Given the description of an element on the screen output the (x, y) to click on. 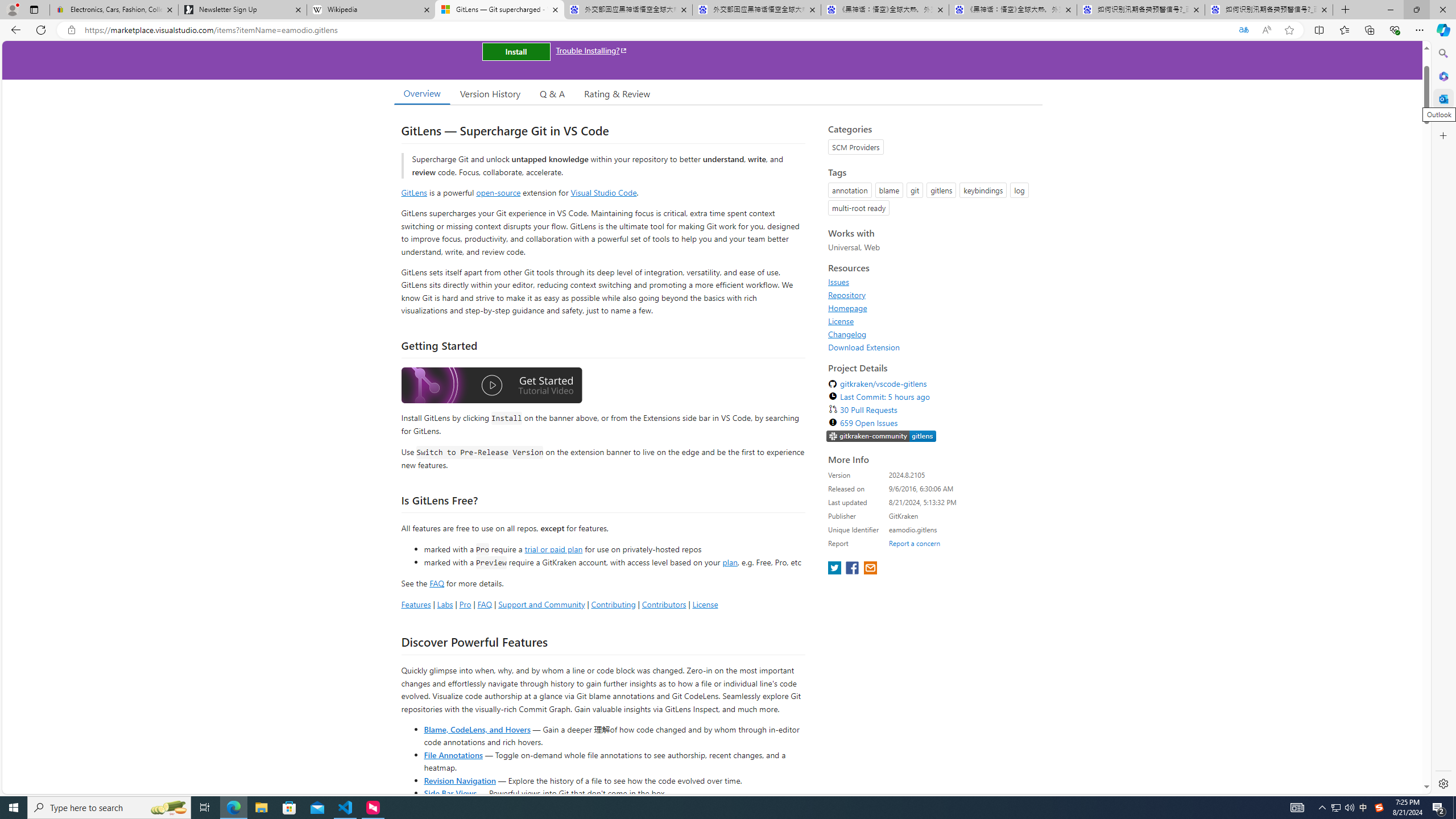
Contributing (613, 603)
open-source (498, 192)
Watch the GitLens Getting Started video (491, 385)
Overview (421, 92)
Newsletter Sign Up (242, 9)
share extension on twitter (835, 568)
File Annotations (453, 754)
